Given the description of an element on the screen output the (x, y) to click on. 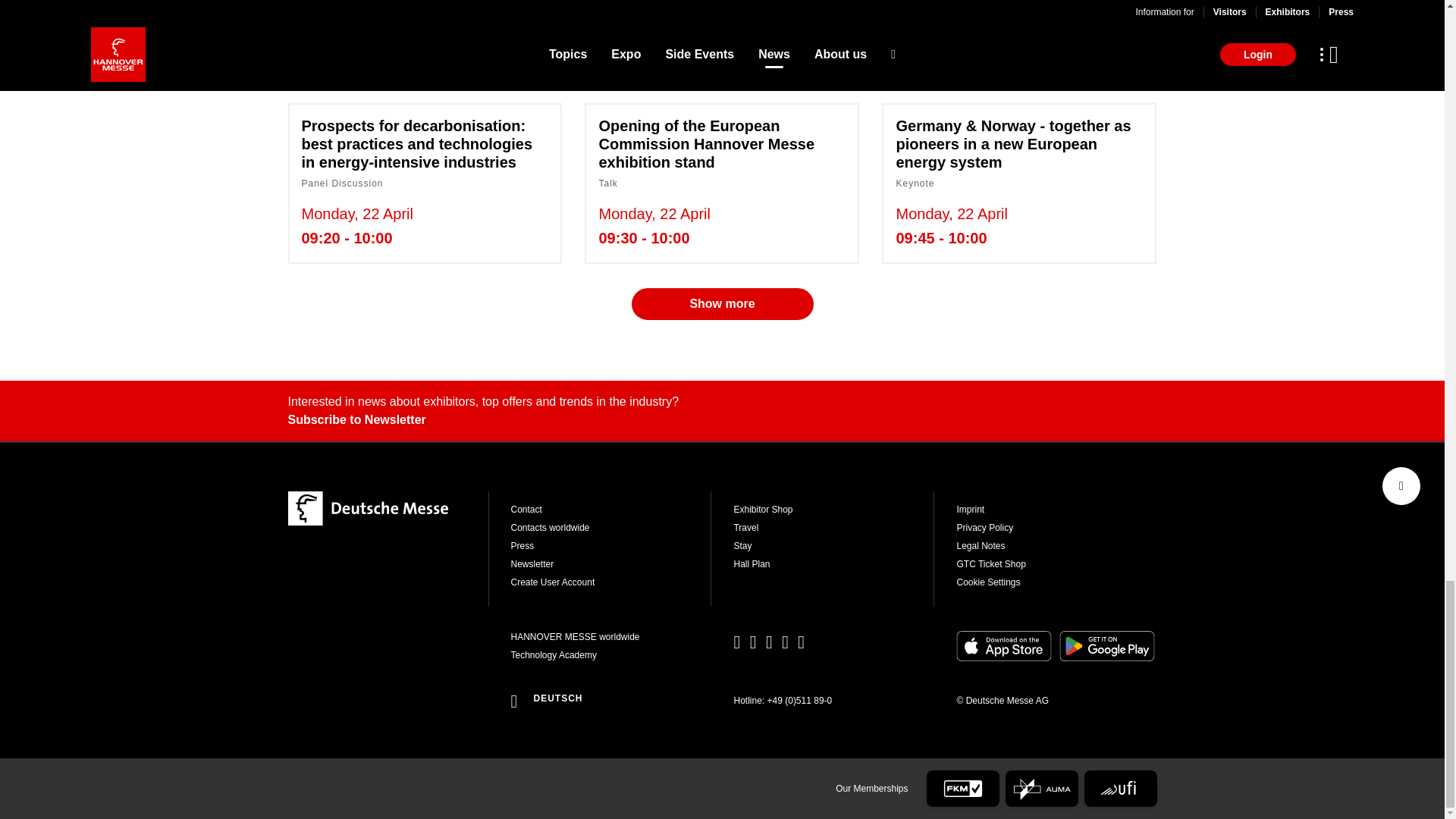
Show more (945, 2)
